Given the description of an element on the screen output the (x, y) to click on. 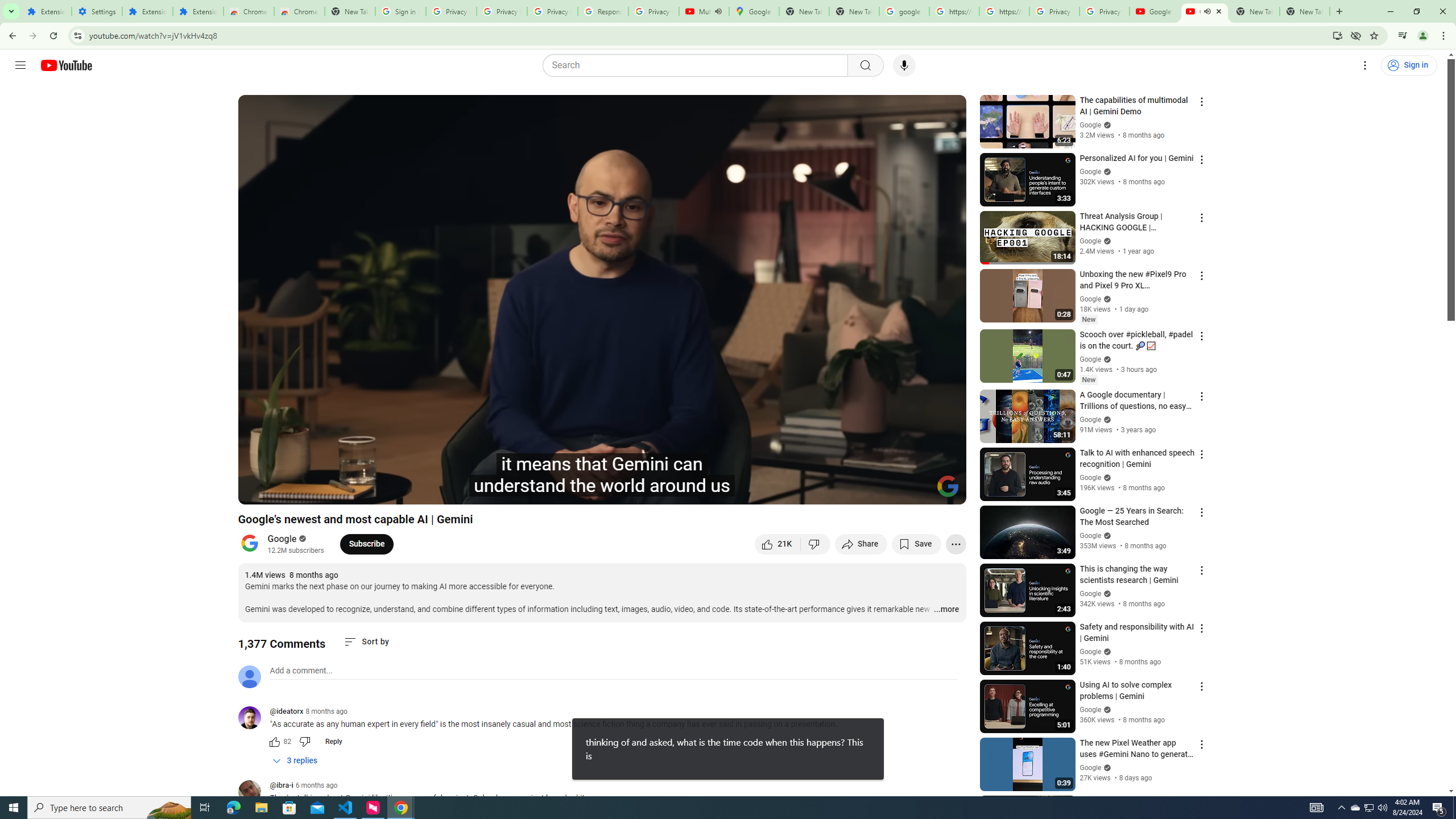
Reply (333, 741)
Subscribe to Google. (366, 543)
AutomationID: simplebox-placeholder (301, 670)
Verified (1106, 767)
New Tab (1304, 11)
Like this comment along with 82 other people (273, 741)
like this video along with 21,118 other people (777, 543)
@ibra-i (281, 785)
